Given the description of an element on the screen output the (x, y) to click on. 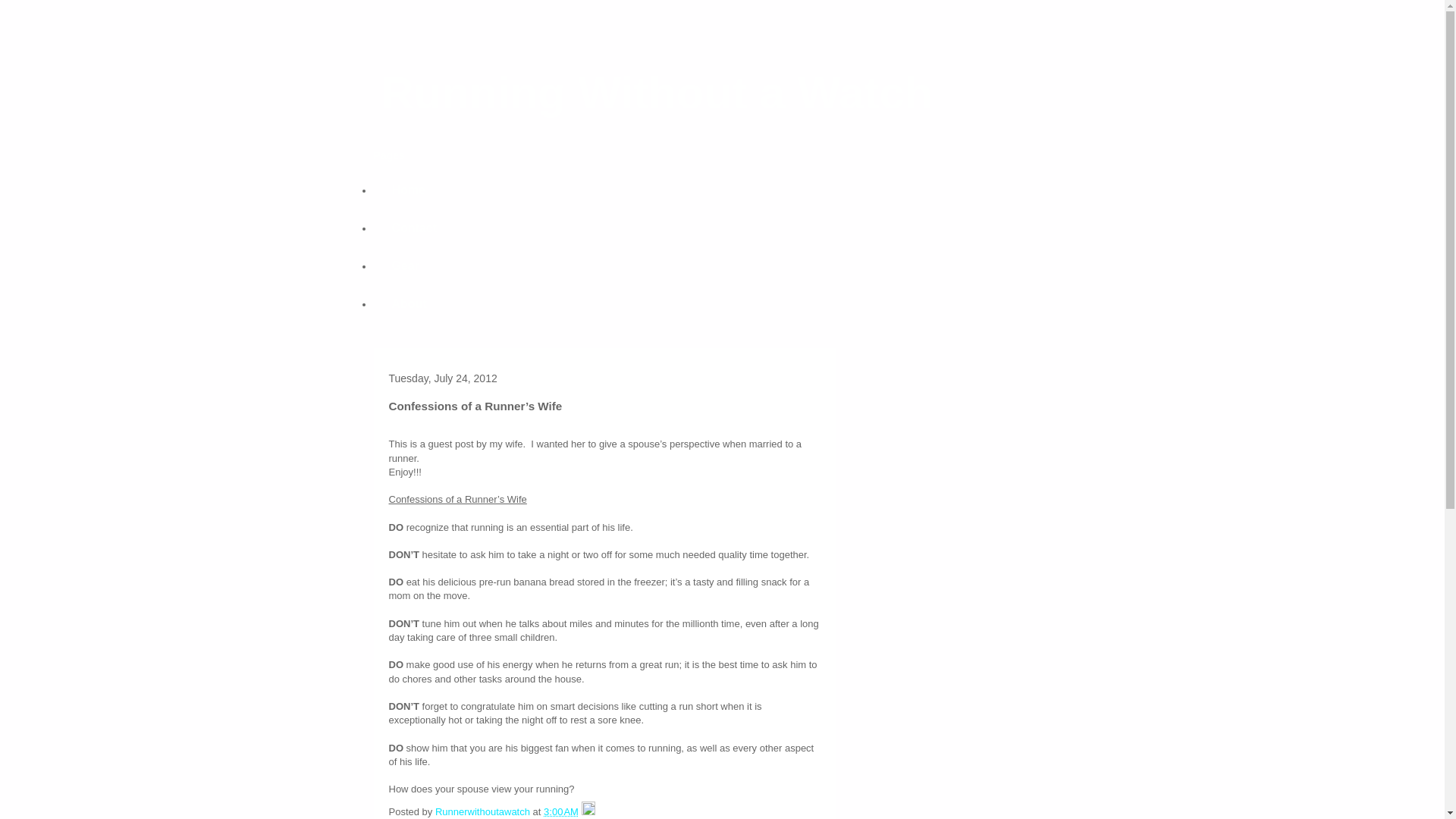
Gear (404, 266)
author profile (483, 811)
permanent link (560, 811)
Running Without a Watch (655, 92)
Home (407, 190)
Runnerwithoutawatch (483, 811)
Contact (413, 228)
Edit Post (587, 811)
About (408, 303)
